Given the description of an element on the screen output the (x, y) to click on. 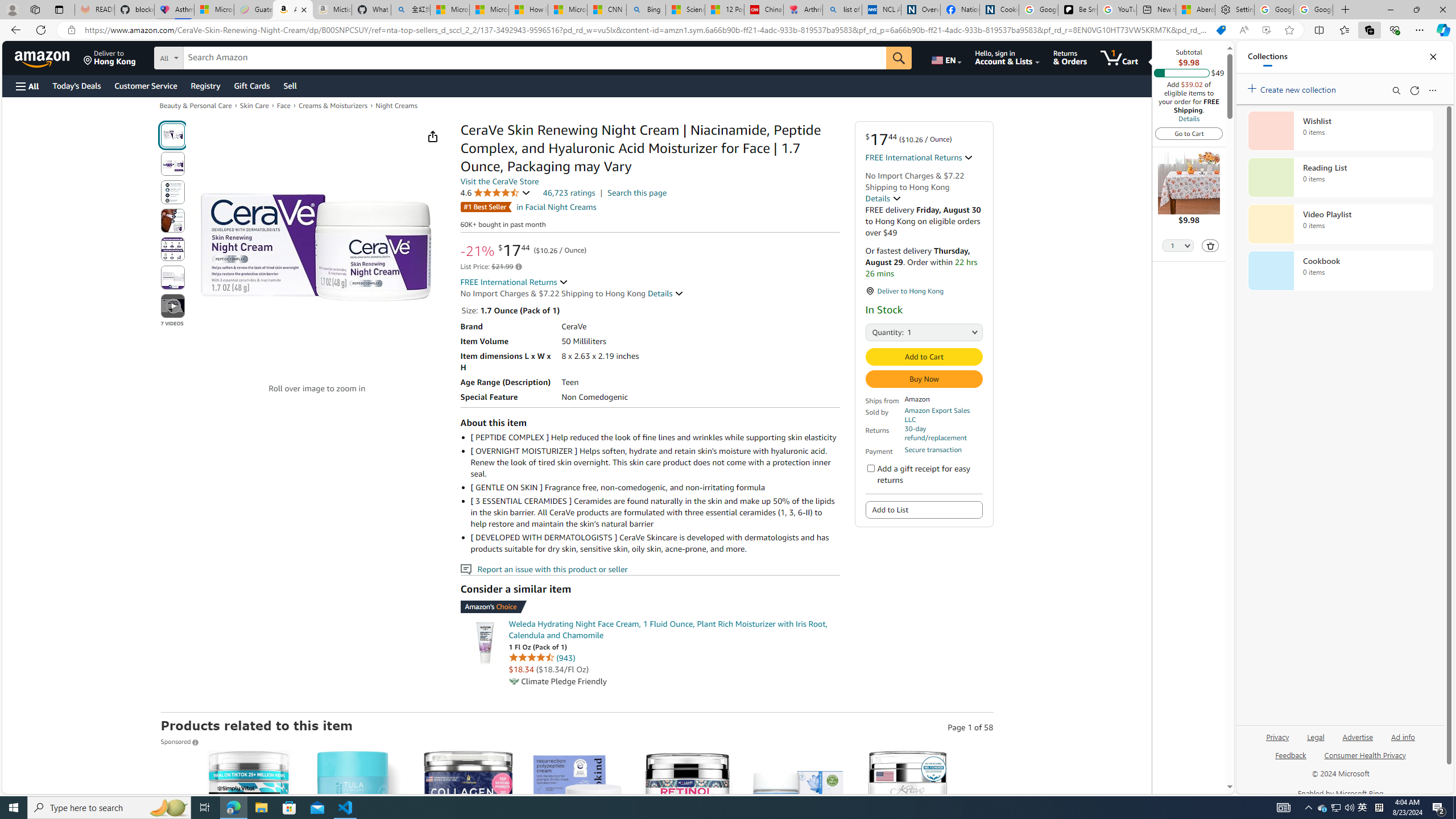
Aberdeen, Hong Kong SAR hourly forecast | Microsoft Weather (1195, 9)
Add to List (924, 509)
Video Playlist collection, 0 items (1339, 223)
Add a gift receipt for easy returns (870, 467)
Back (13, 29)
Go to Cart (1188, 133)
Quantity Selector (1177, 246)
Sell (290, 85)
4.6 4.6 out of 5 stars (494, 192)
Split screen (1318, 29)
Close tab (303, 9)
